Given the description of an element on the screen output the (x, y) to click on. 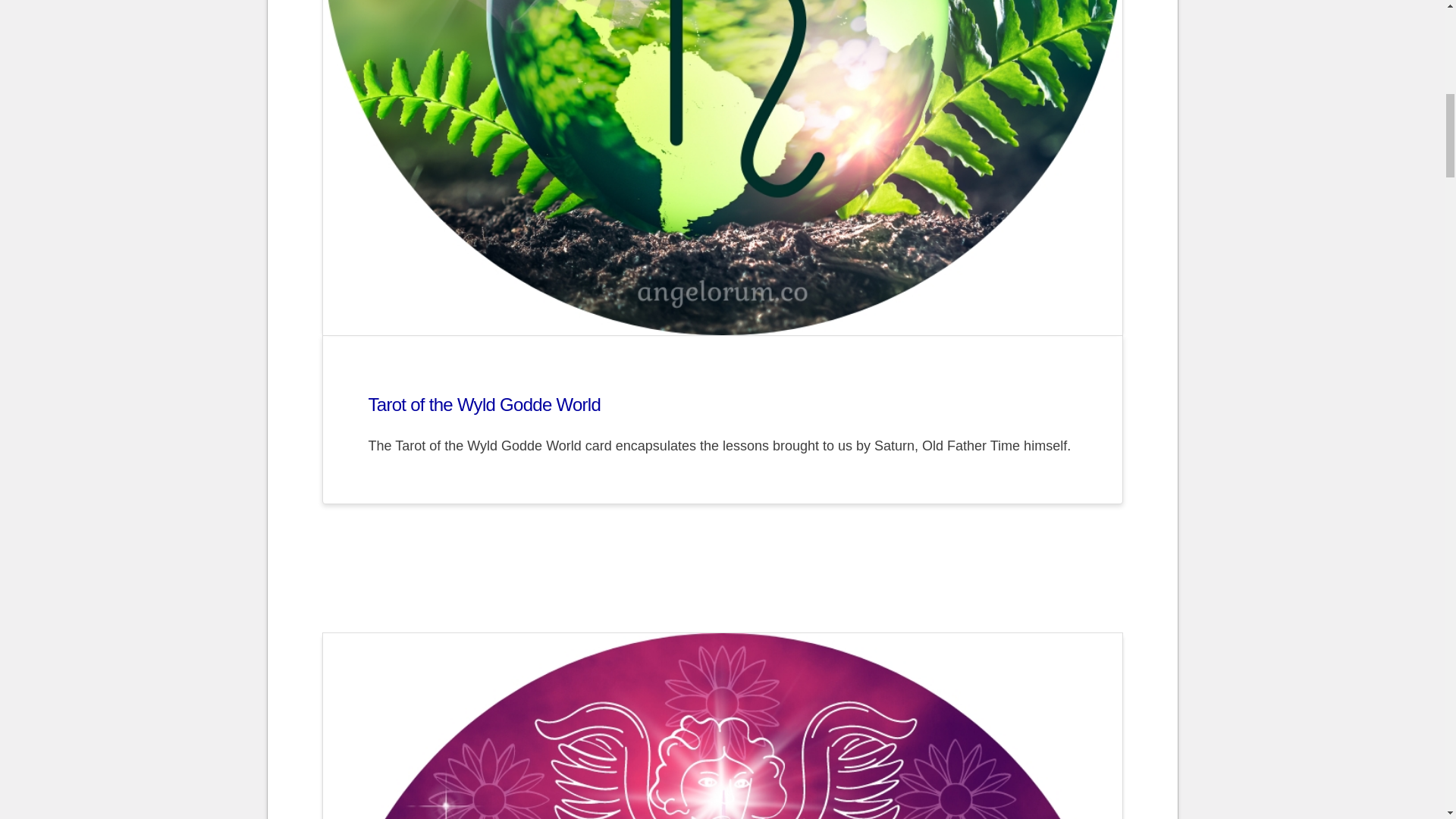
Permalink to: "Tarot of the Wyld Godde World" (484, 403)
Tarot of the Wyld Godde World (484, 403)
